Given the description of an element on the screen output the (x, y) to click on. 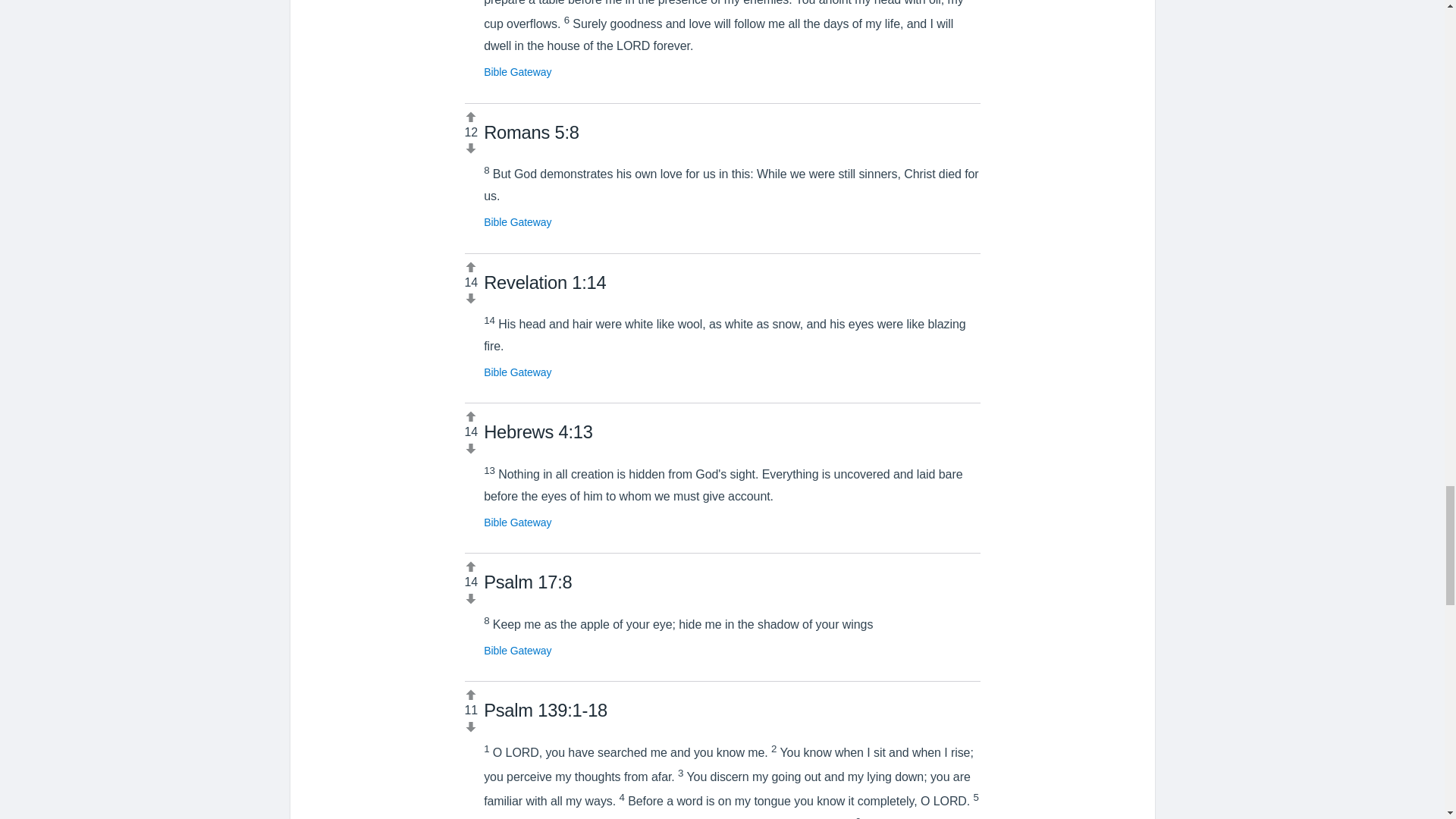
Bible Gateway (517, 222)
Bible Gateway (517, 650)
Bible Gateway (517, 522)
Bible Gateway (517, 71)
Bible Gateway (517, 372)
